Given the description of an element on the screen output the (x, y) to click on. 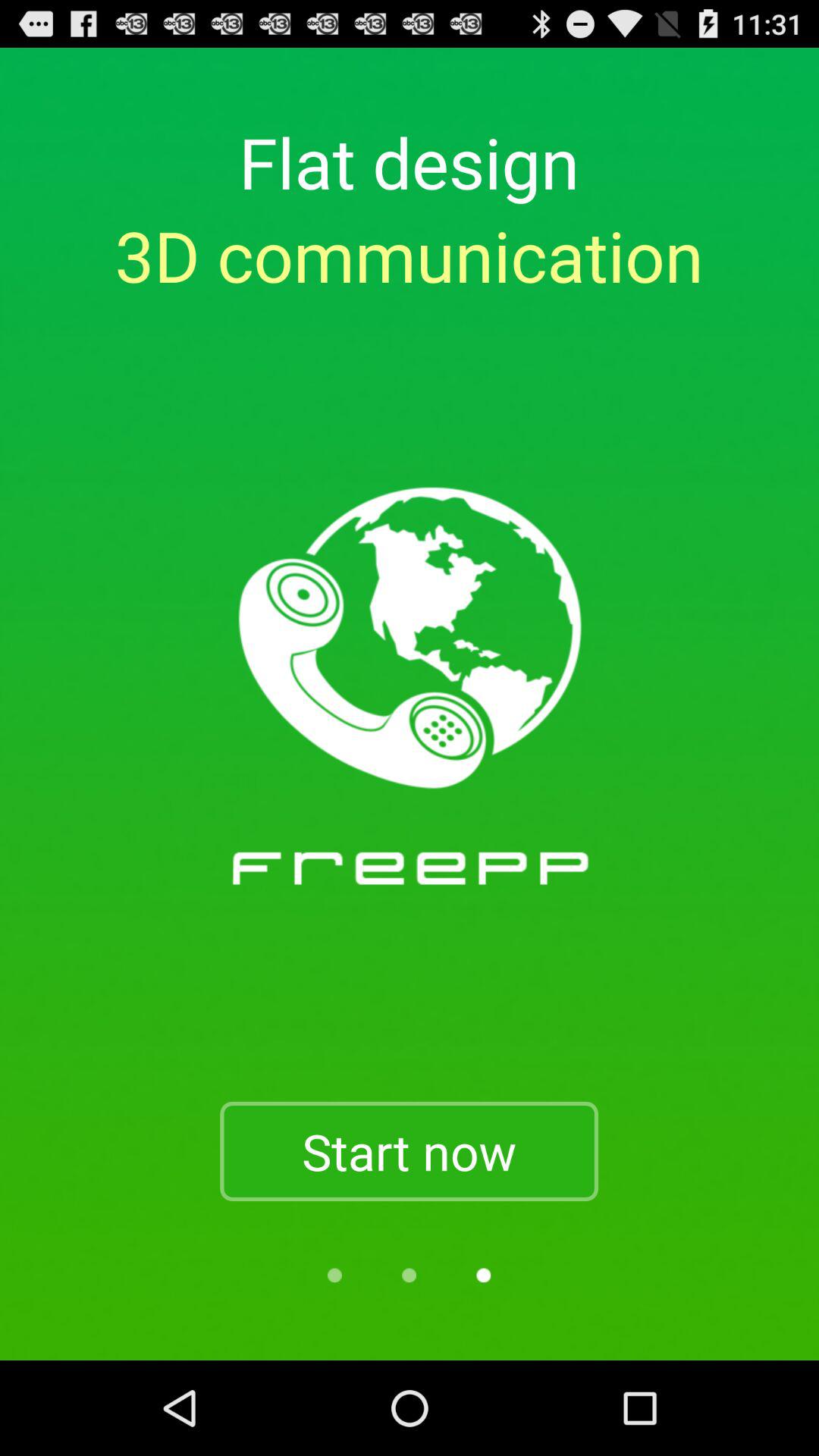
turn off item below start now icon (334, 1275)
